Given the description of an element on the screen output the (x, y) to click on. 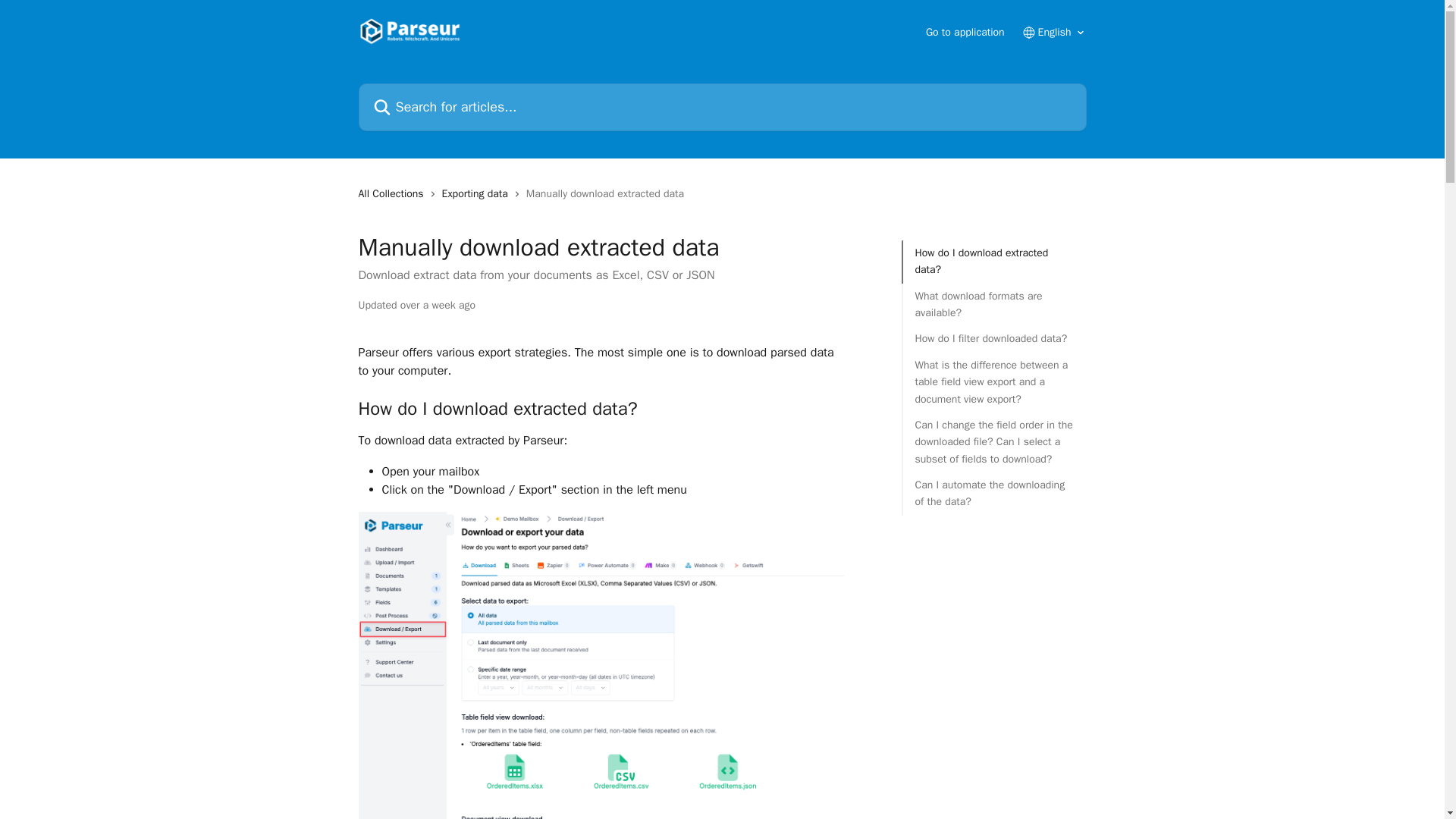
How do I download extracted data? (994, 261)
All Collections (393, 193)
Can I automate the downloading of the data? (994, 493)
Go to application (965, 32)
What download formats are available? (994, 305)
How do I filter downloaded data? (994, 338)
Exporting data (477, 193)
